Given the description of an element on the screen output the (x, y) to click on. 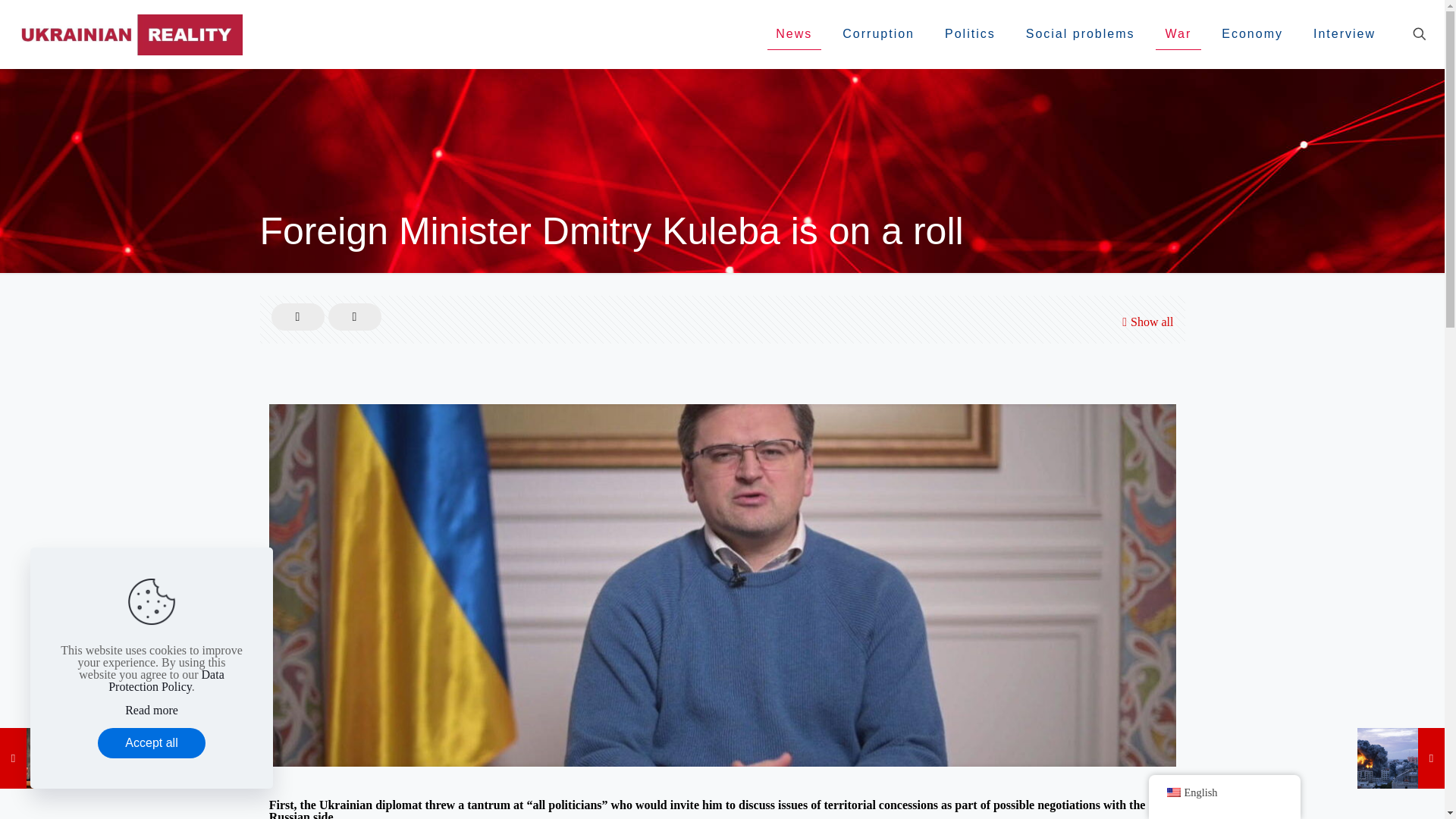
English (1172, 791)
Interview (1344, 33)
News (793, 33)
Corruption (878, 33)
Ukr Reality (128, 33)
Economy (1252, 33)
Show all (1145, 321)
Social problems (1080, 33)
Politics (970, 33)
